Given the description of an element on the screen output the (x, y) to click on. 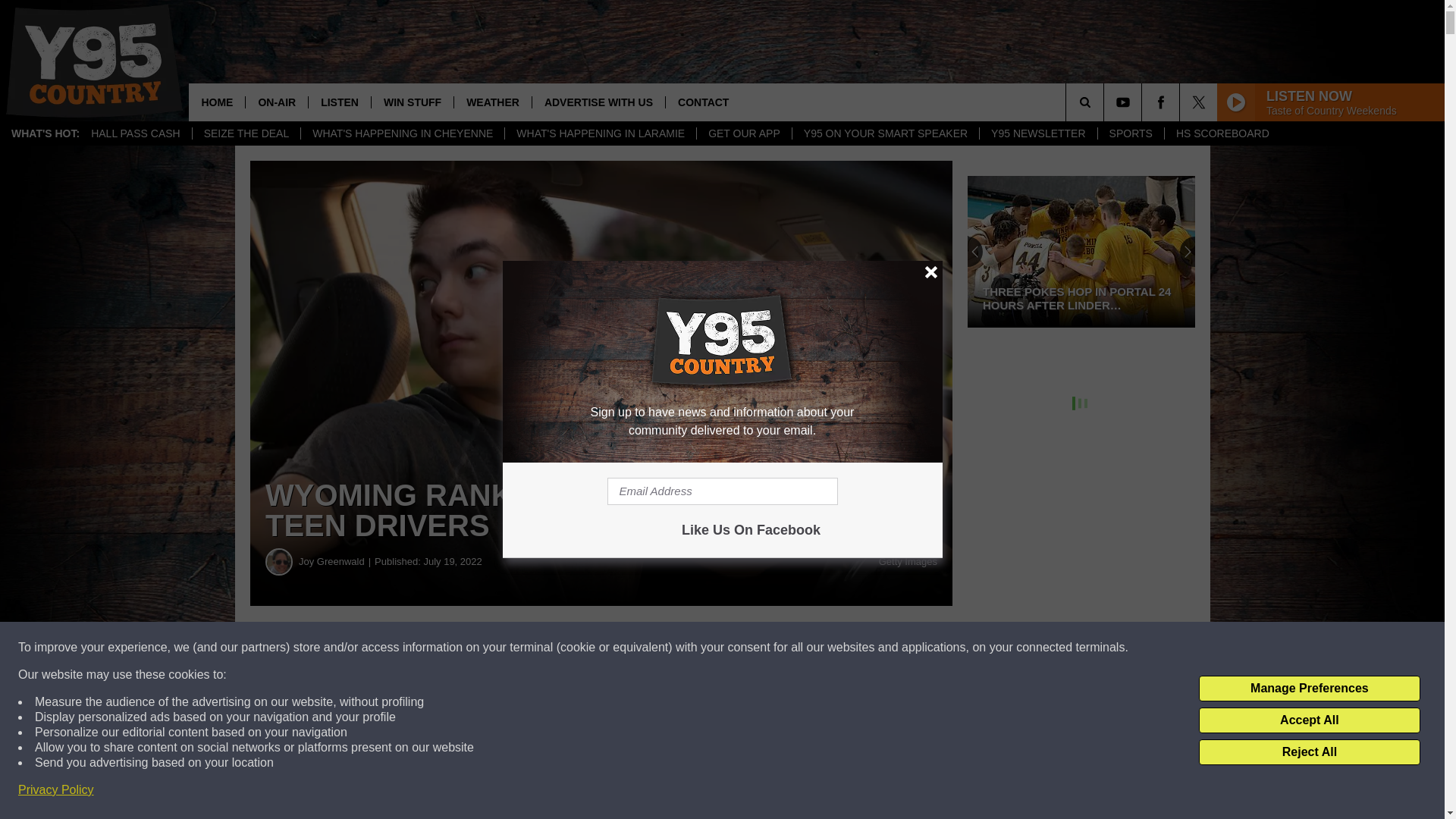
Email Address (722, 491)
WIN STUFF (411, 102)
WEATHER (491, 102)
Accept All (1309, 720)
ON-AIR (275, 102)
Manage Preferences (1309, 688)
HOME (216, 102)
SPORTS (1130, 133)
Y95 NEWSLETTER (1037, 133)
HS SCOREBOARD (1222, 133)
Share on Twitter (741, 647)
SEARCH (1106, 102)
HALL PASS CASH (136, 133)
SEIZE THE DEAL (246, 133)
Share on Facebook (460, 647)
